Given the description of an element on the screen output the (x, y) to click on. 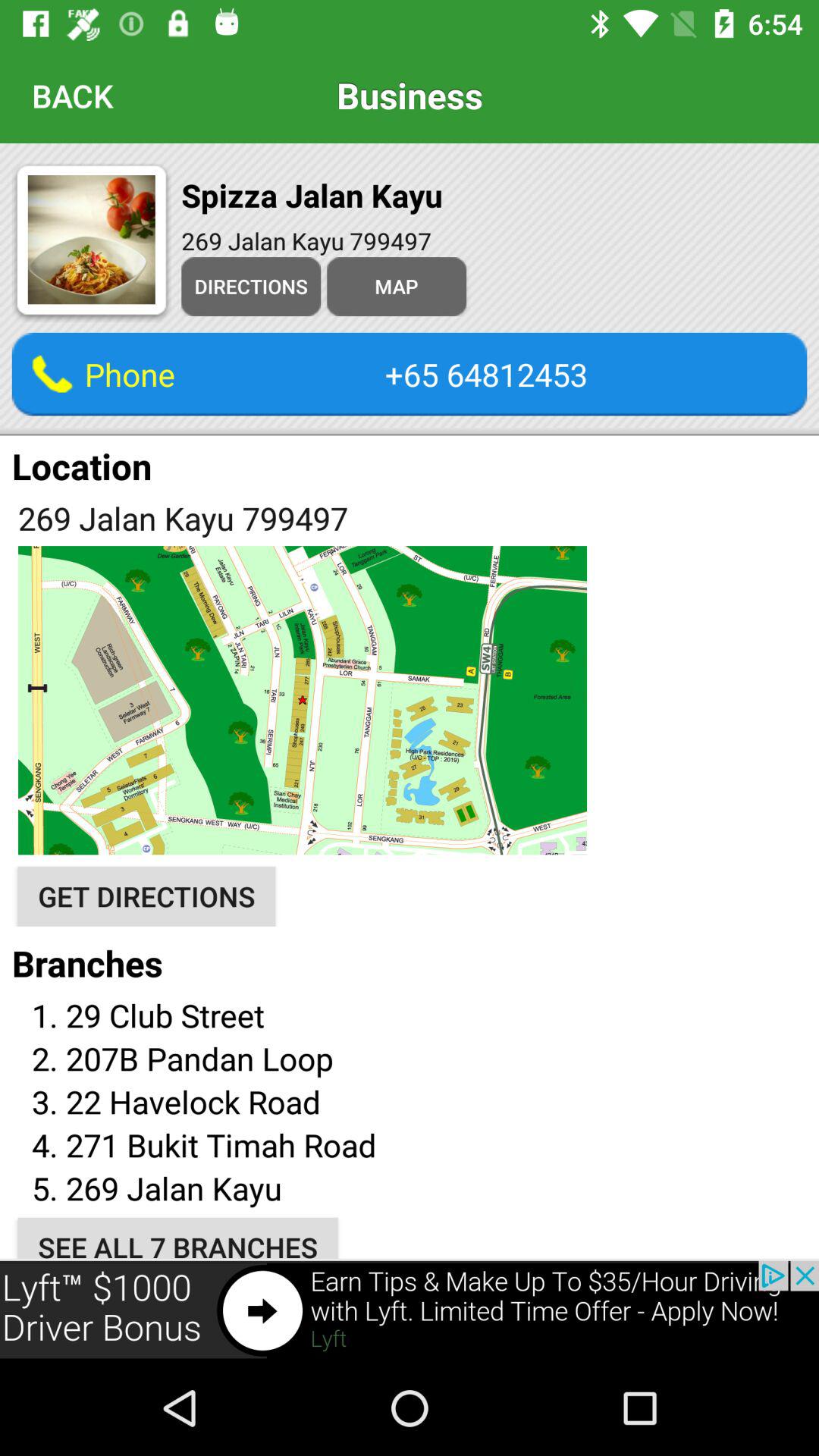
click on advertisement (409, 1310)
